Given the description of an element on the screen output the (x, y) to click on. 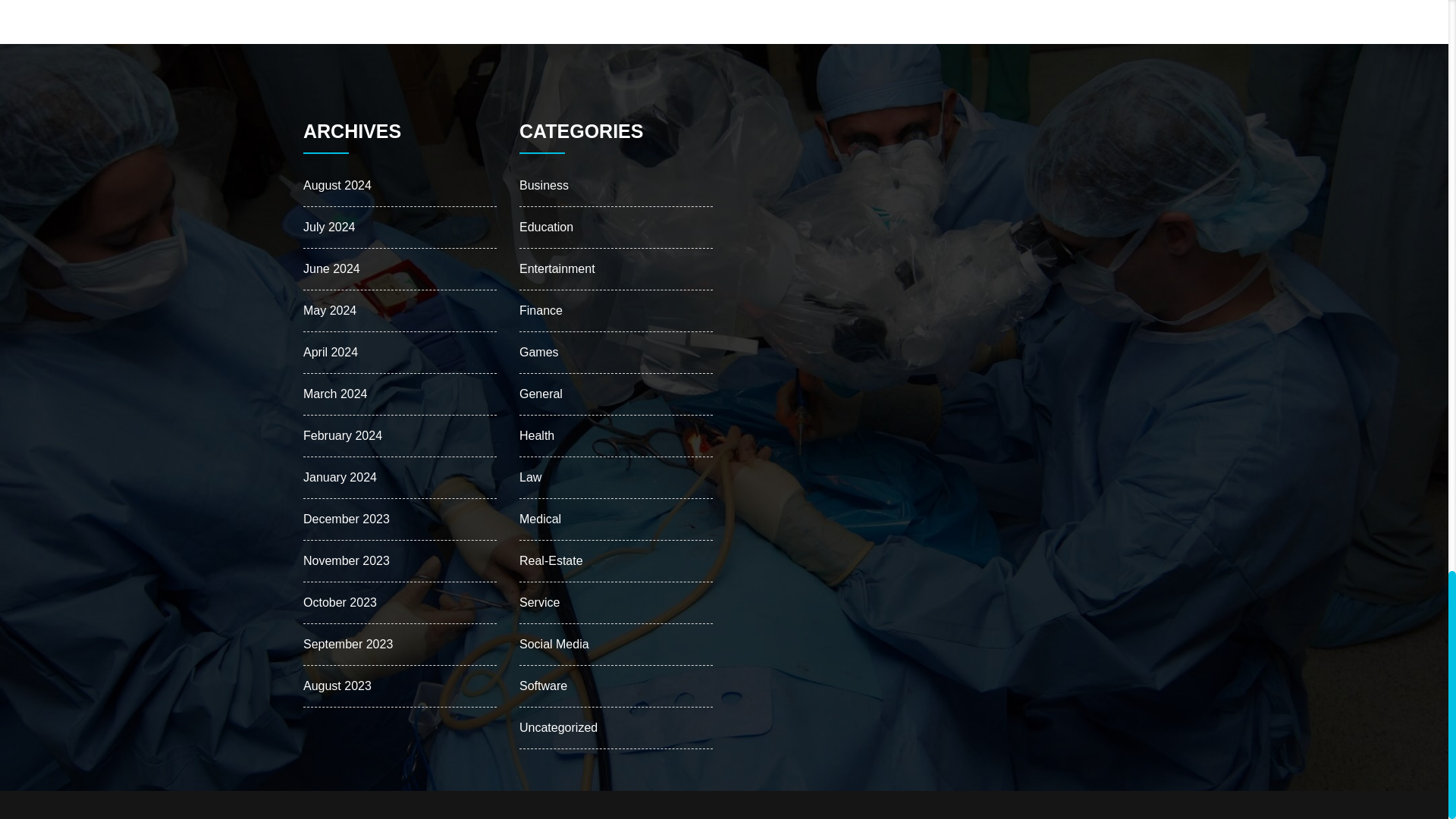
July 2024 (328, 226)
June 2024 (330, 268)
August 2024 (336, 185)
